Given the description of an element on the screen output the (x, y) to click on. 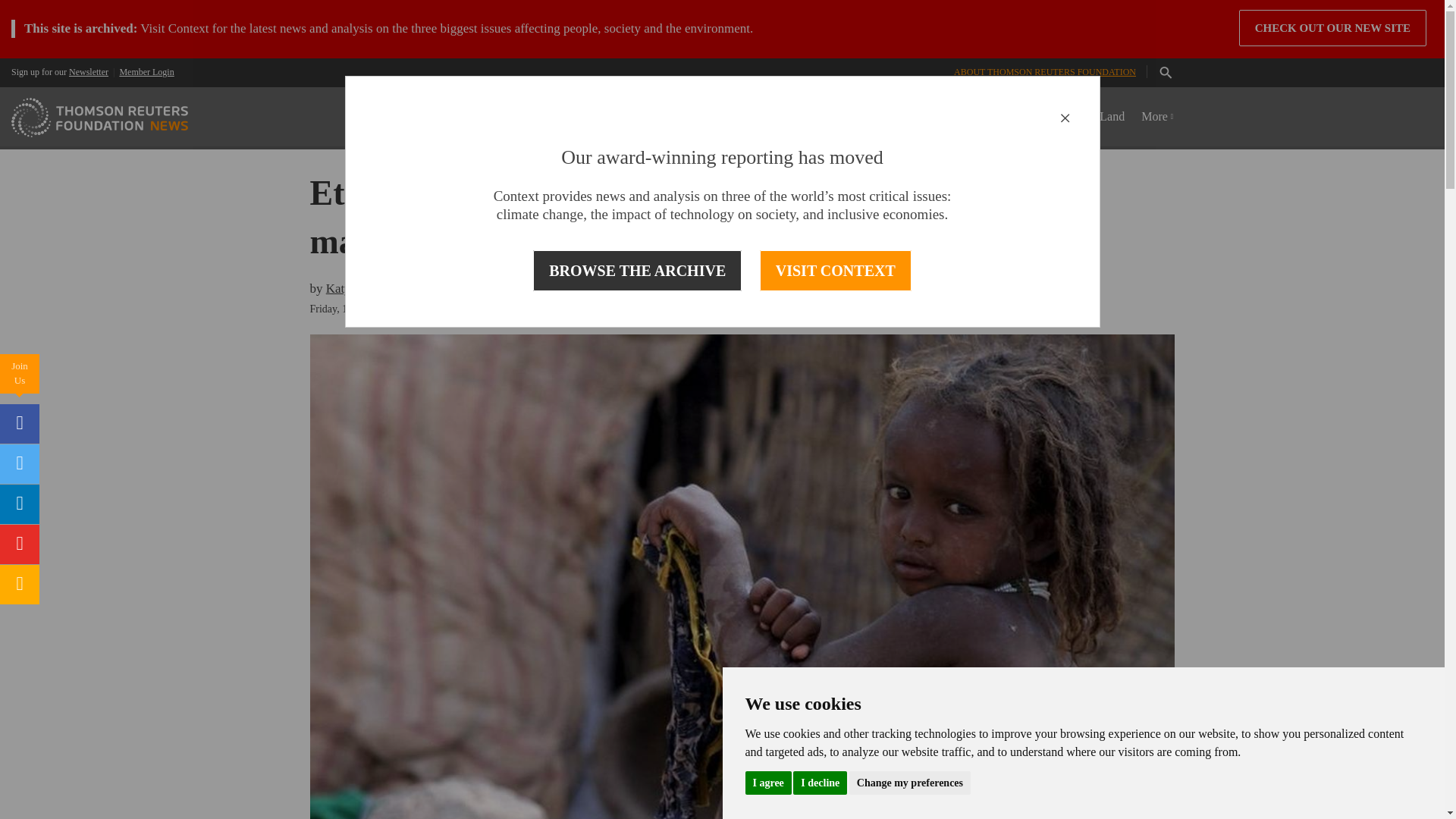
Member Login (146, 71)
ABOUT THOMSON REUTERS FOUNDATION (1044, 71)
Slavery (1019, 117)
Climate (821, 117)
More (1157, 117)
Women (711, 117)
Coronavirus (645, 117)
Cities (1068, 117)
Change my preferences (909, 781)
Economies (884, 117)
